Given the description of an element on the screen output the (x, y) to click on. 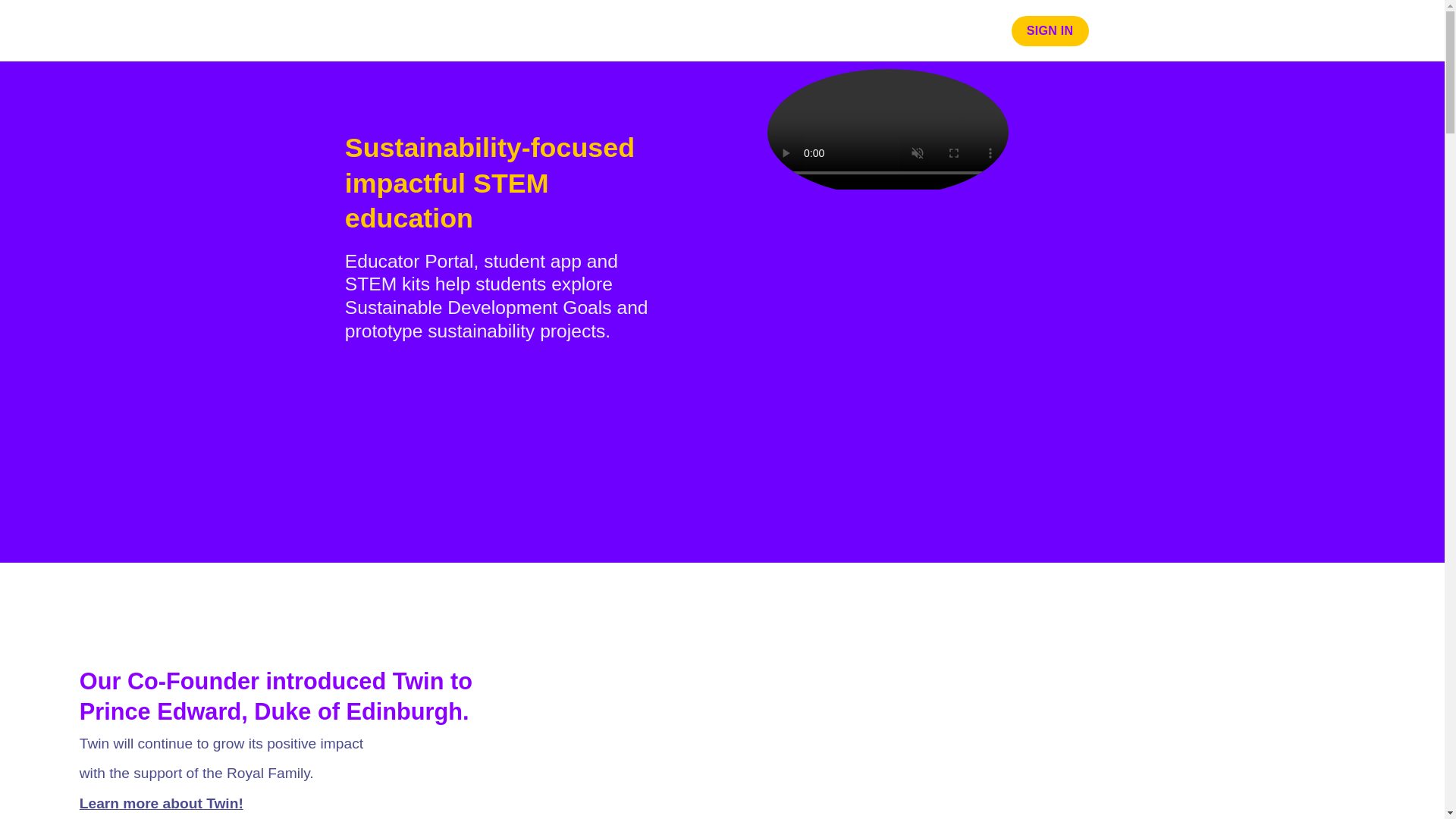
STEM KITS (960, 30)
Twin Science (358, 30)
Learn more about Twin! (161, 803)
STUDENT APP (867, 30)
SIGN IN (1050, 30)
EDUCATOR PORTAL (744, 30)
